Given the description of an element on the screen output the (x, y) to click on. 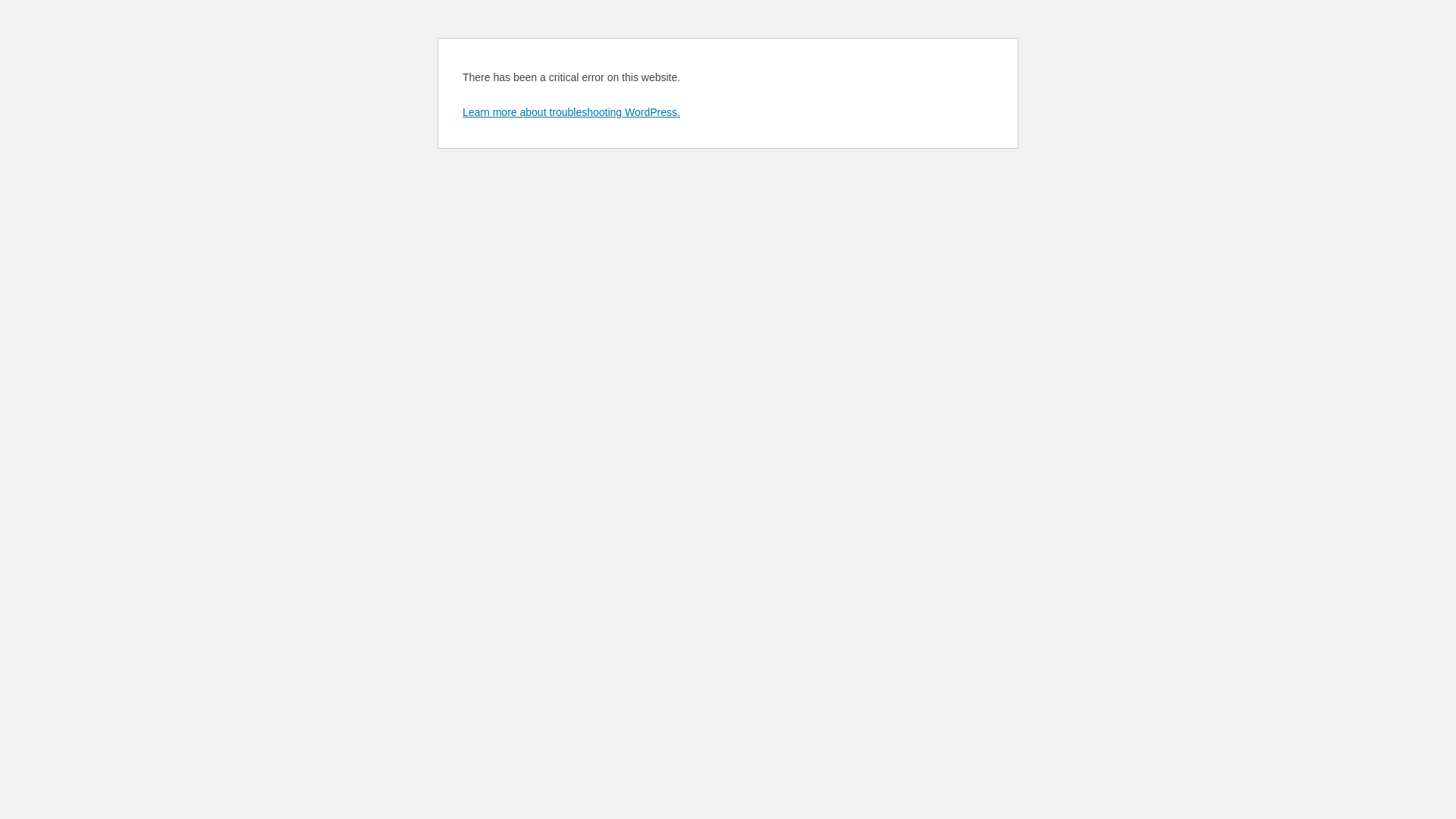
Learn more about troubleshooting WordPress. Element type: text (571, 112)
